Given the description of an element on the screen output the (x, y) to click on. 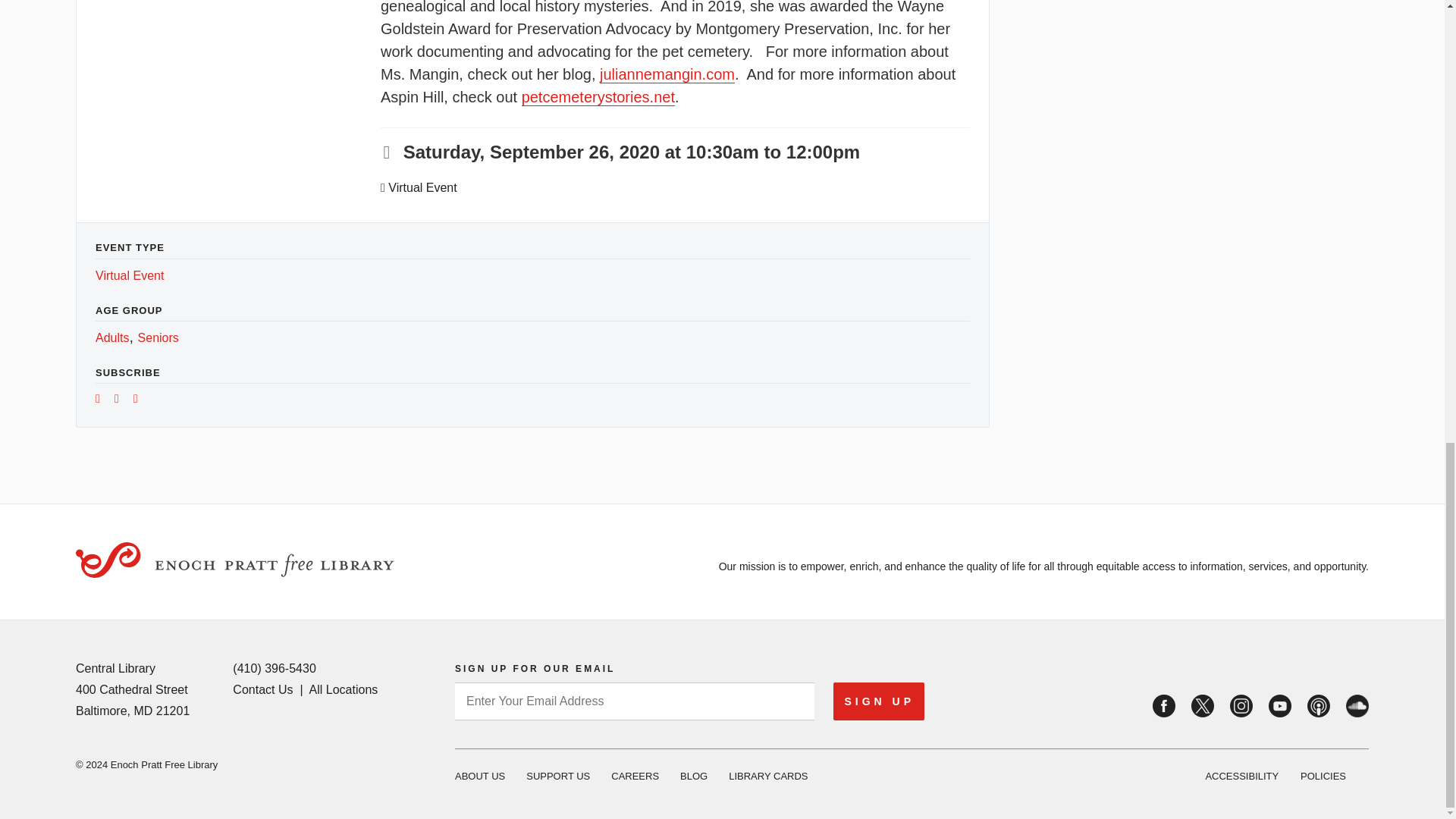
2020-09-26T12:00:00-04:00 (823, 151)
Save to Google Calendar (103, 400)
Sign Up (878, 701)
Save to Outlook (140, 400)
Save to iCal (122, 400)
2020-09-26T10:30:00-04:00 (571, 151)
